Given the description of an element on the screen output the (x, y) to click on. 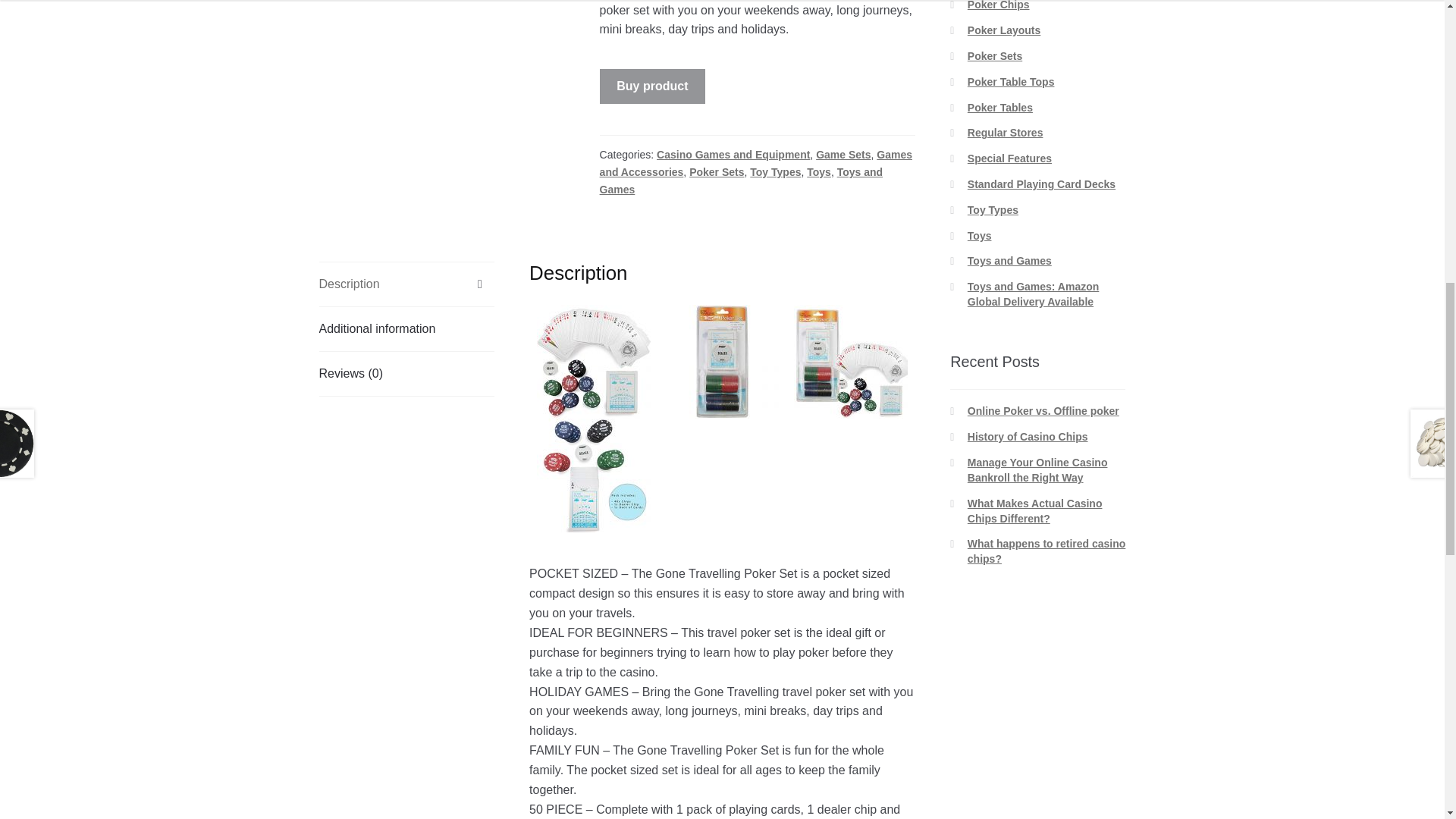
Game Sets (842, 154)
Toy Types (774, 172)
Casino Games and Equipment (732, 154)
Poker Sets (716, 172)
Games and Accessories (755, 163)
Buy product (652, 86)
